Given the description of an element on the screen output the (x, y) to click on. 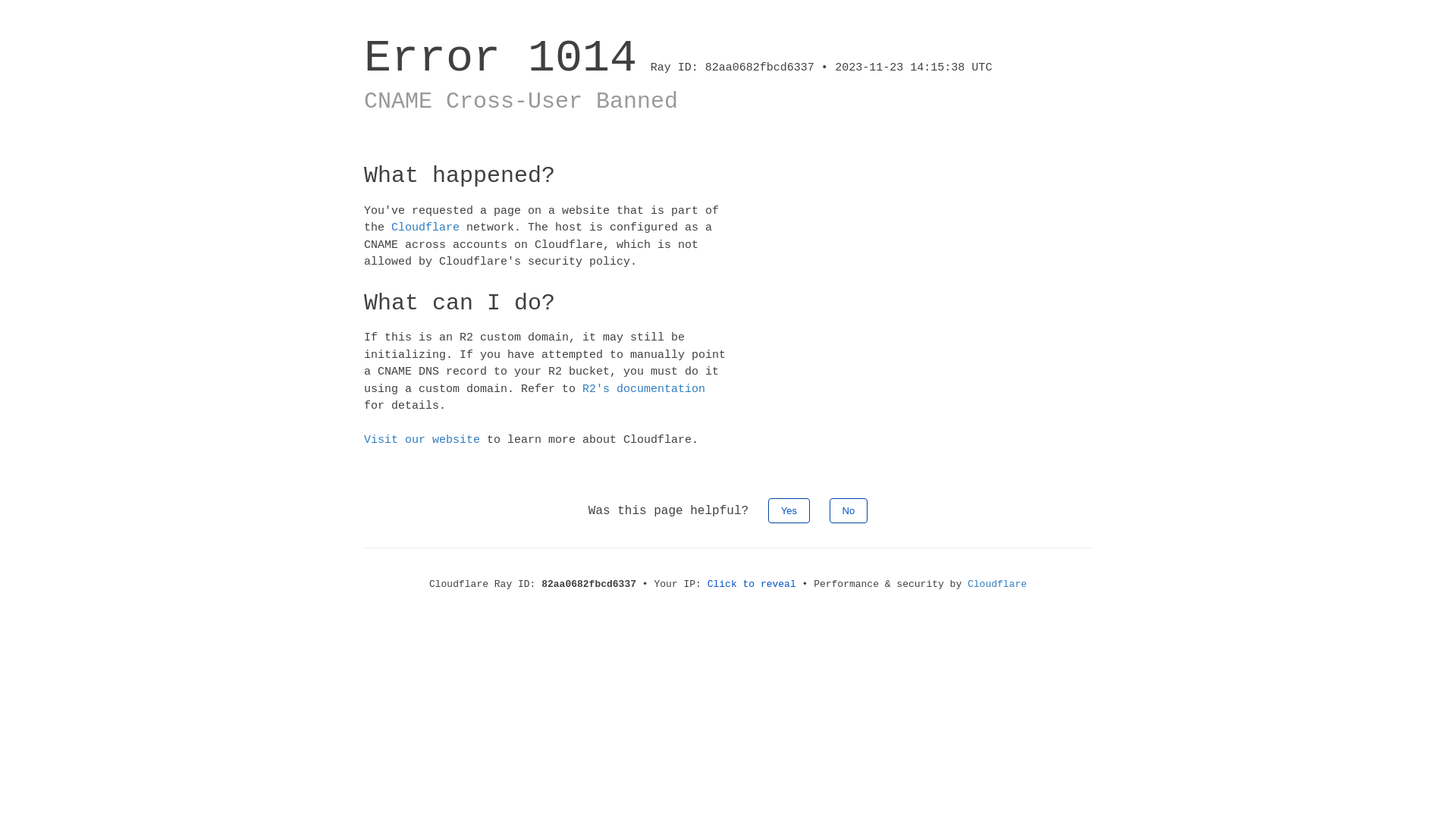
R2's documentation Element type: text (643, 388)
Cloudflare Element type: text (425, 227)
Visit our website Element type: text (422, 439)
No Element type: text (848, 509)
Click to reveal Element type: text (751, 583)
Yes Element type: text (788, 509)
Cloudflare Element type: text (996, 583)
